Given the description of an element on the screen output the (x, y) to click on. 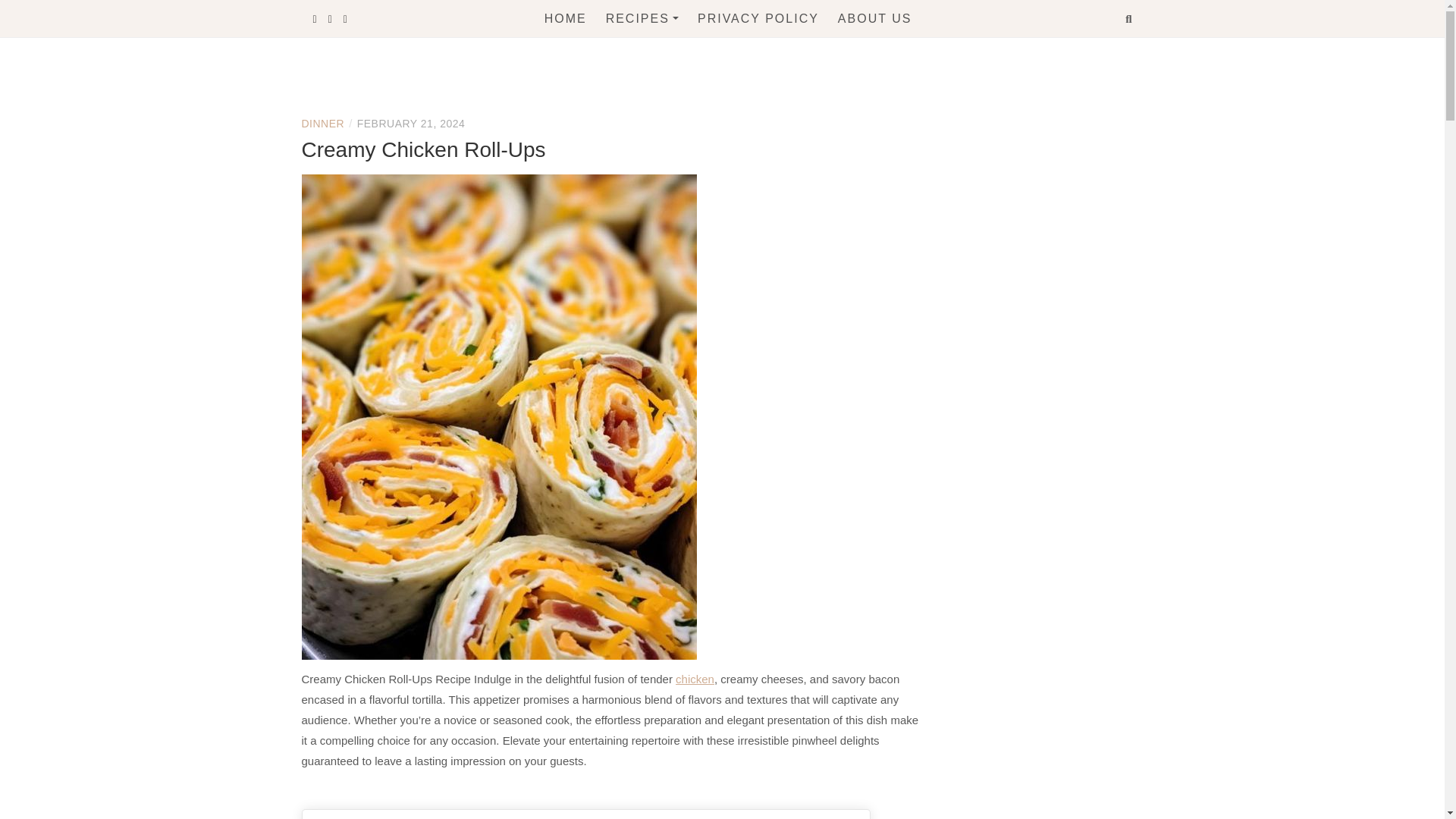
chicken (694, 678)
DINNER (323, 123)
ABOUT US (875, 18)
STYLICONS.COM (521, 99)
DINNER (689, 115)
LUNCH (689, 83)
HOME (565, 18)
SOUPS AND SALADS (689, 209)
PRIVACY POLICY (757, 18)
BREAKFAST (689, 52)
RECIPES (641, 18)
SNACKS (689, 177)
DESSERTS (689, 146)
